Given the description of an element on the screen output the (x, y) to click on. 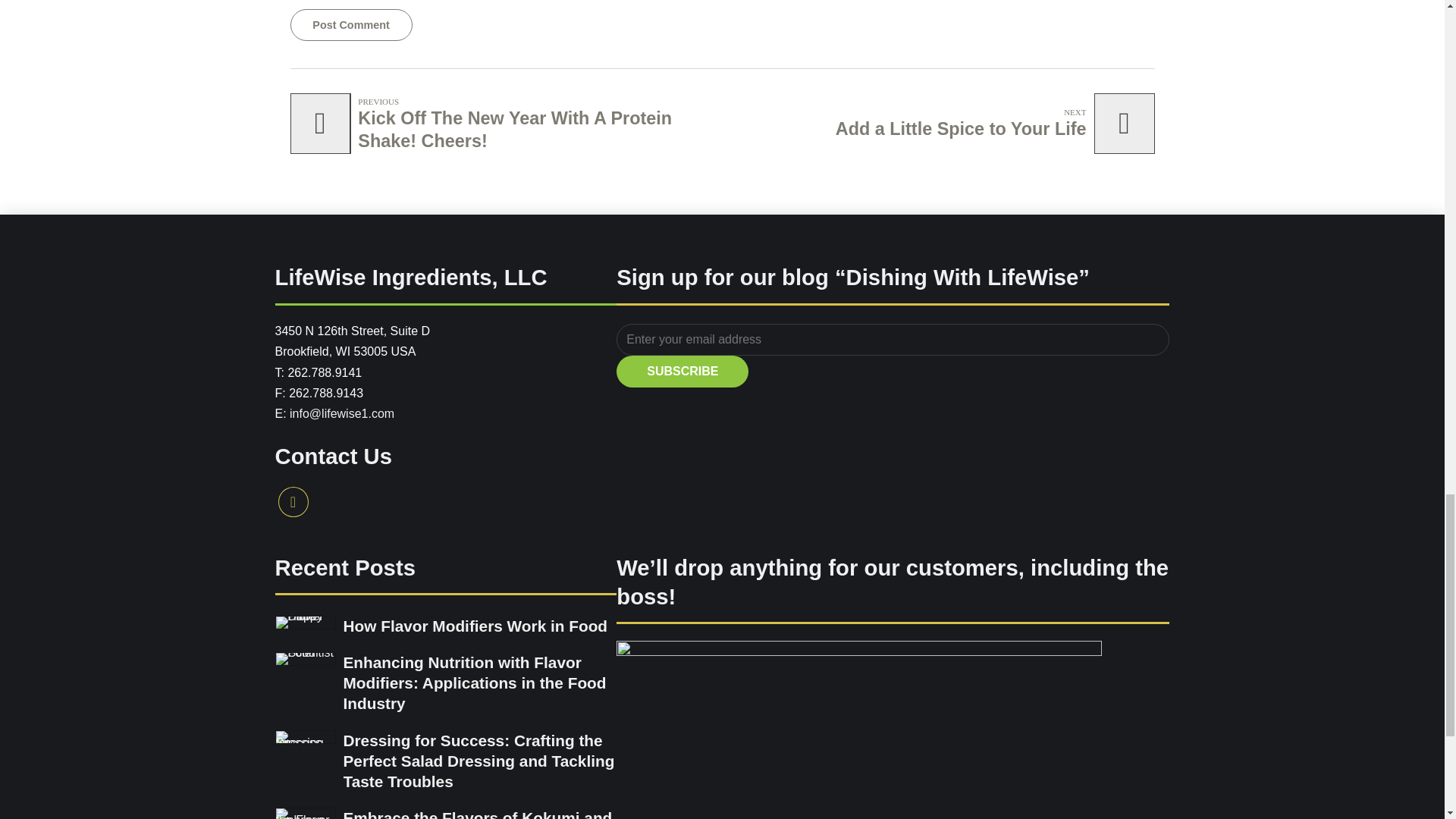
Subscribe (681, 371)
How Flavor Modifiers Work in Food (474, 625)
Post Comment (350, 24)
Embrace the Flavors of Kokumi and Umami (476, 814)
Subscribe (991, 123)
